Given the description of an element on the screen output the (x, y) to click on. 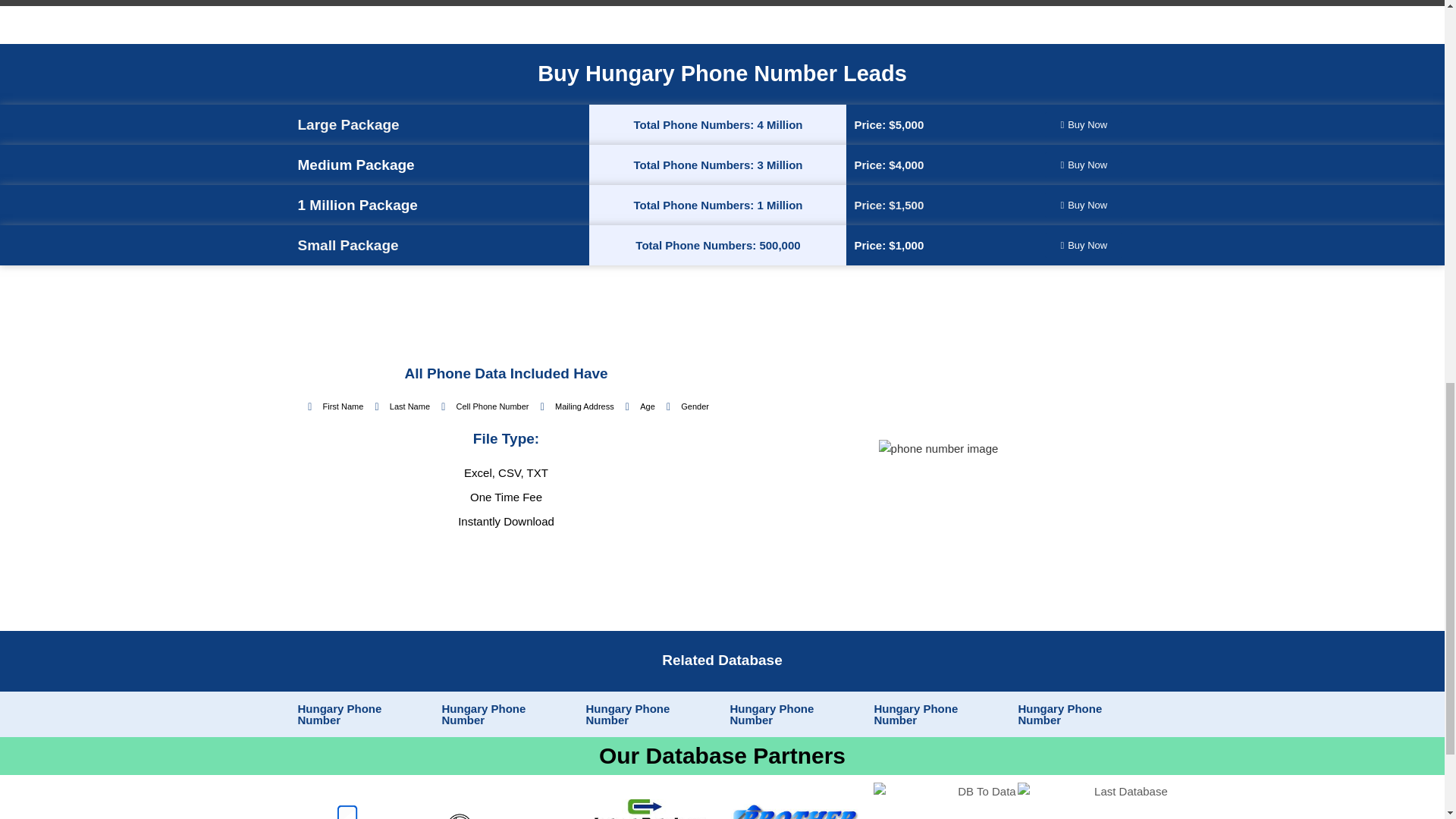
Buy Now (1083, 124)
Hungary Phone Number (627, 713)
Hungary Phone Number (339, 713)
Buy Now (1083, 244)
Buy Now (1083, 164)
Hungary Phone Number (1059, 713)
Buy Now (1083, 204)
Hungary Phone Number (915, 713)
Hungary Phone Number (483, 713)
Hungary Phone Number (771, 713)
